Given the description of an element on the screen output the (x, y) to click on. 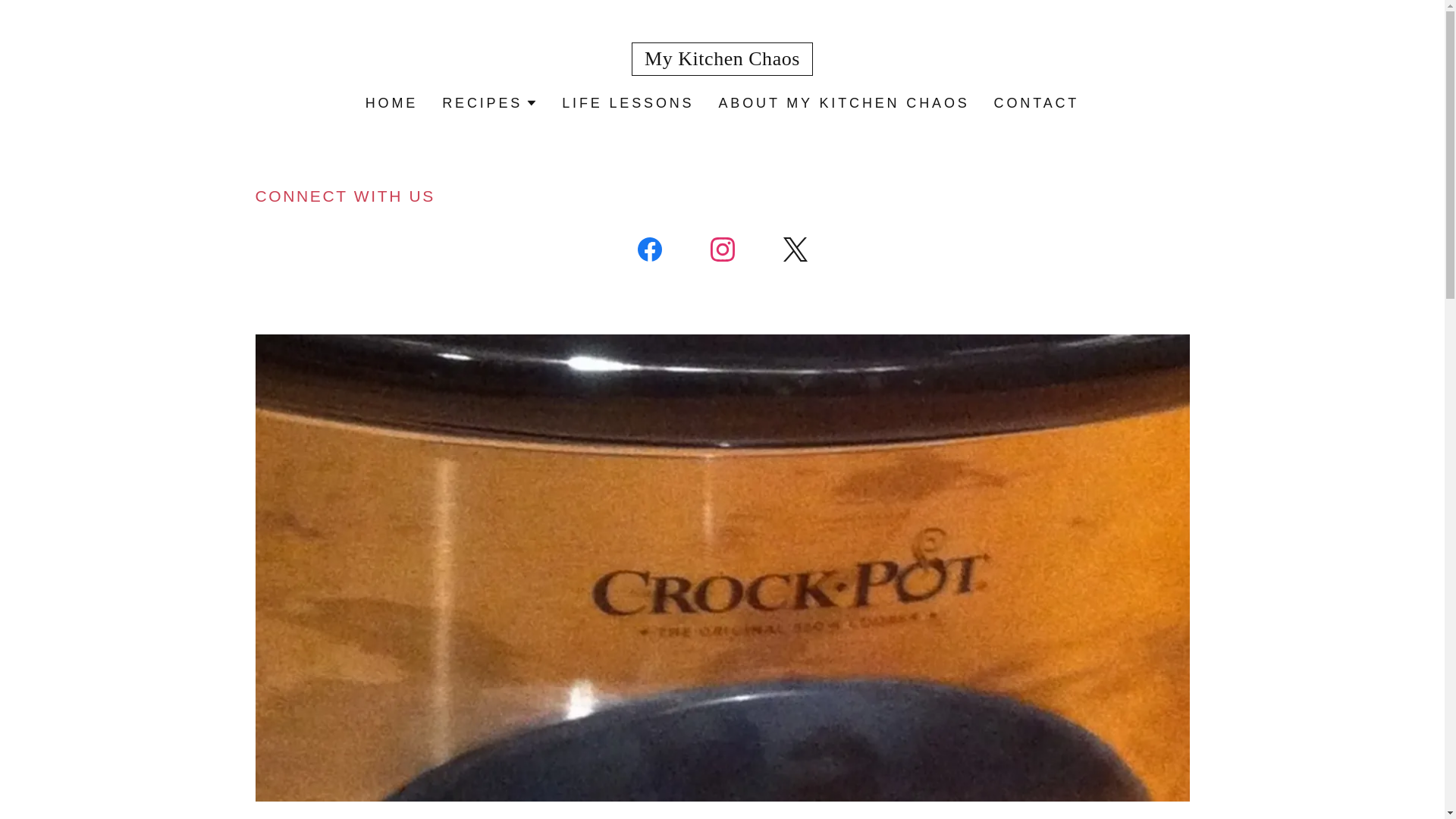
RECIPES (489, 103)
ABOUT MY KITCHEN CHAOS (843, 103)
My Kitchen Chaos (721, 58)
HOME (391, 103)
My Kitchen Chaos (721, 58)
CONTACT (1037, 103)
LIFE LESSONS (627, 103)
